Given the description of an element on the screen output the (x, y) to click on. 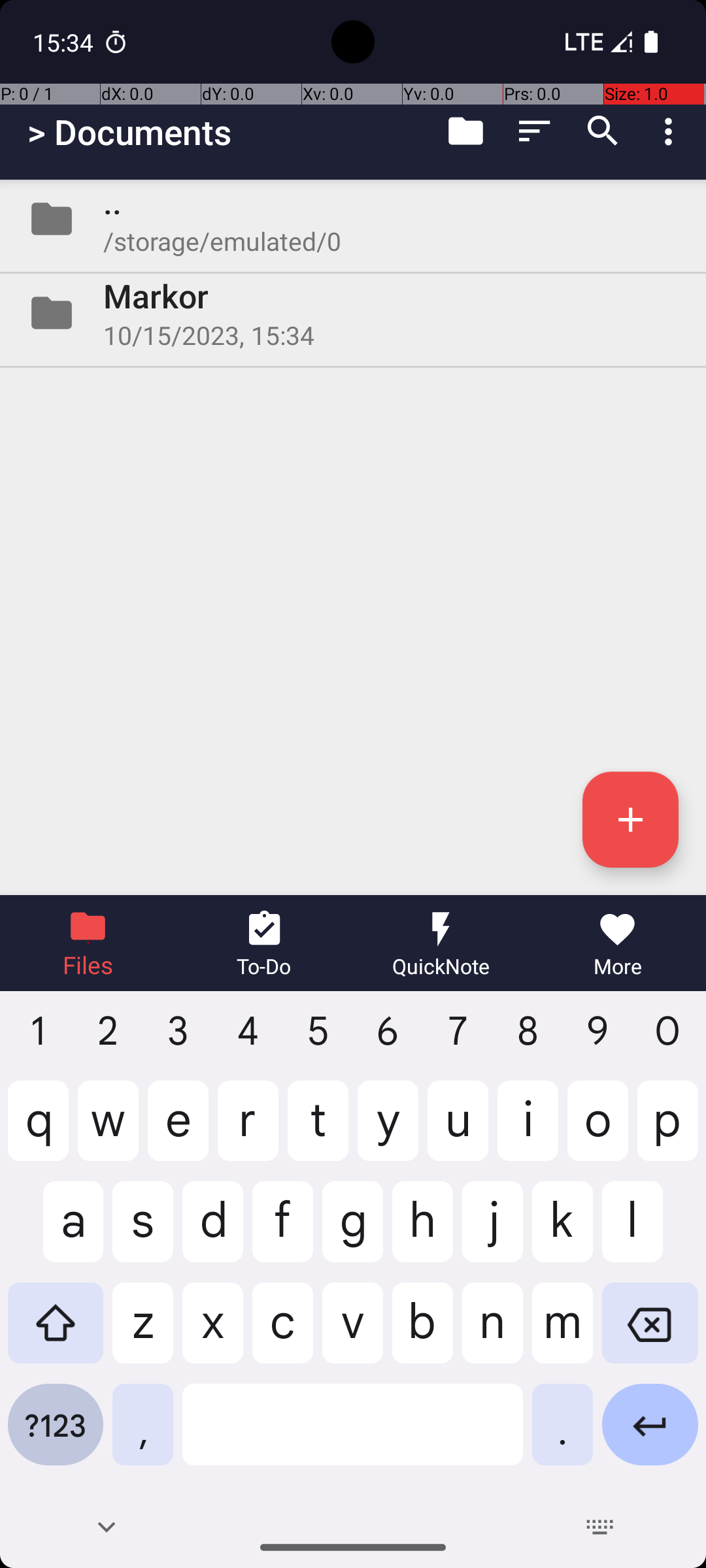
Folder Markor 10/15/2023, 15:34 Element type: android.widget.LinearLayout (353, 312)
